Given the description of an element on the screen output the (x, y) to click on. 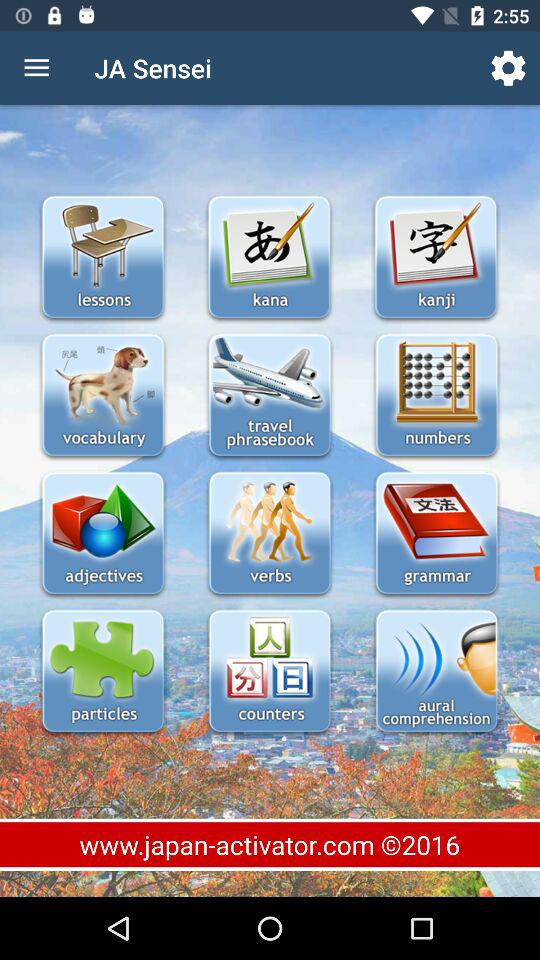
read books (436, 534)
